Given the description of an element on the screen output the (x, y) to click on. 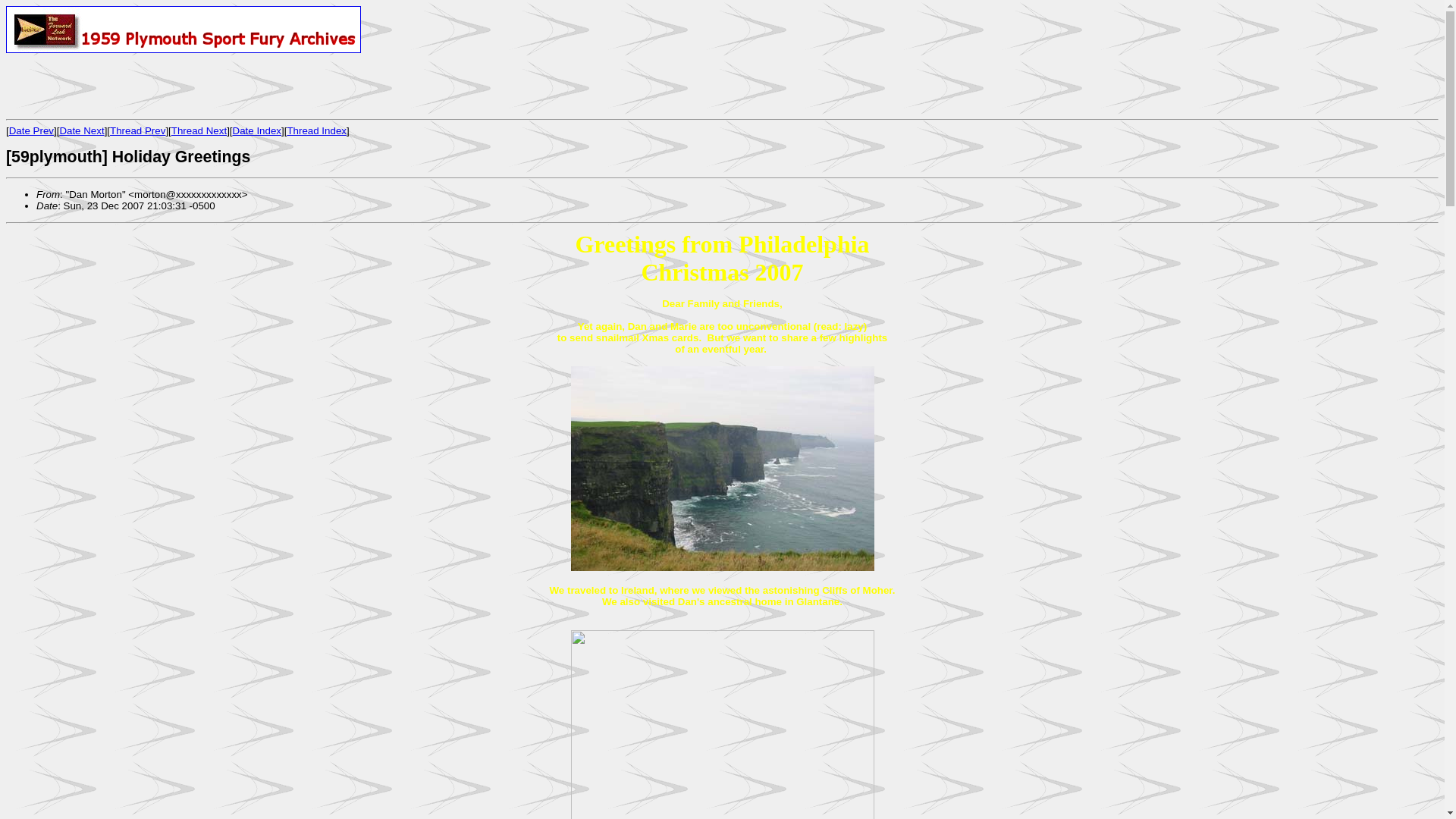
Date Next (81, 130)
Date Prev (30, 130)
Thread Next (199, 130)
Thread Prev (137, 130)
Thread Index (316, 130)
Date Index (256, 130)
